Given the description of an element on the screen output the (x, y) to click on. 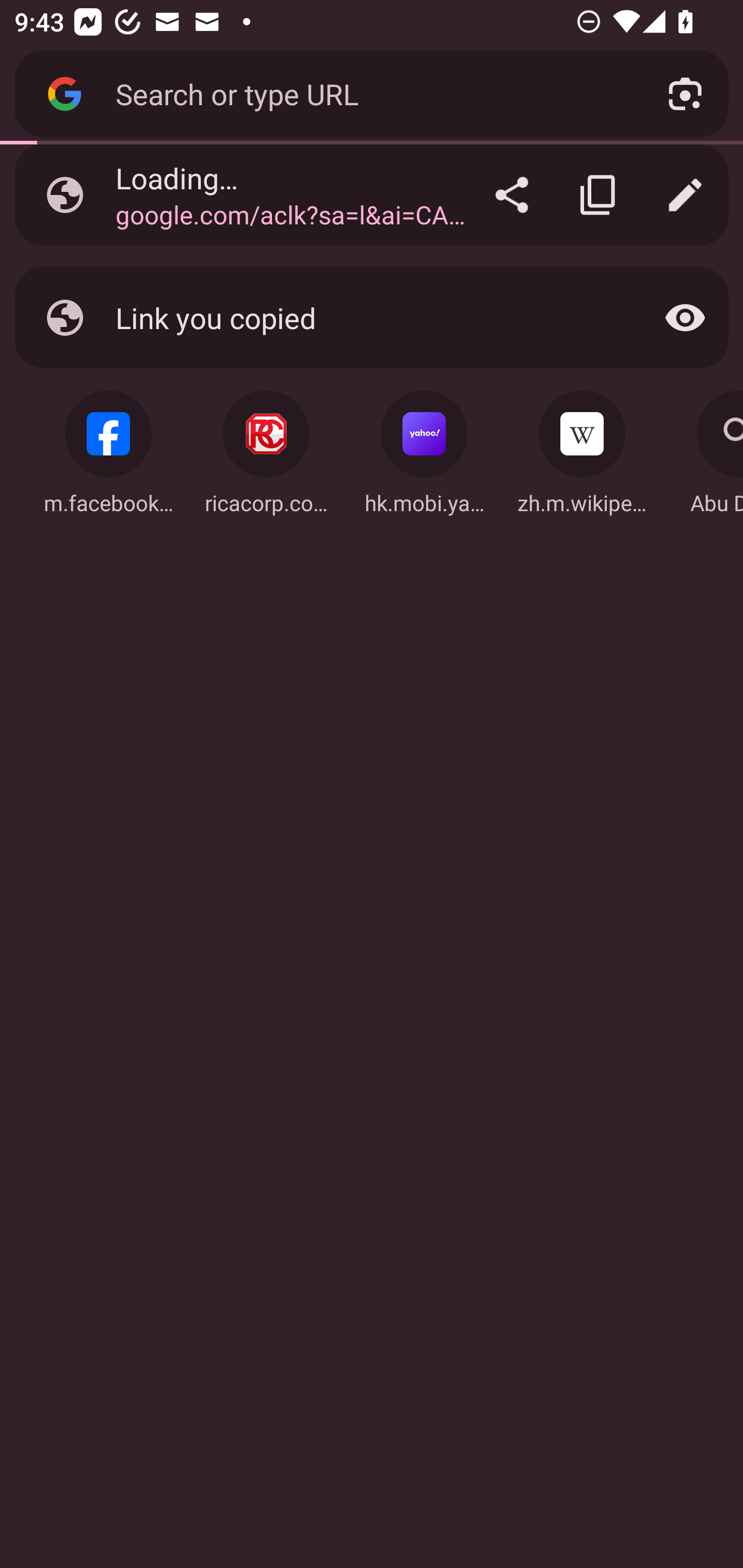
Search with your camera using Google Lens (684, 93)
Search or type URL (367, 92)
Share… (511, 195)
Copy link (598, 195)
Edit (684, 195)
Link you copied Show clipboard contents (371, 317)
Show clipboard contents (684, 317)
